Given the description of an element on the screen output the (x, y) to click on. 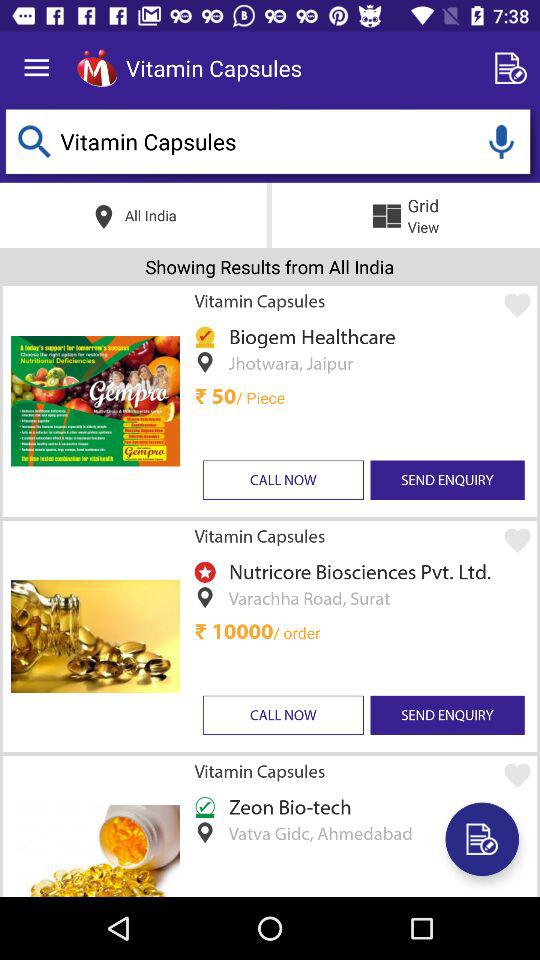
application bar (96, 67)
